Given the description of an element on the screen output the (x, y) to click on. 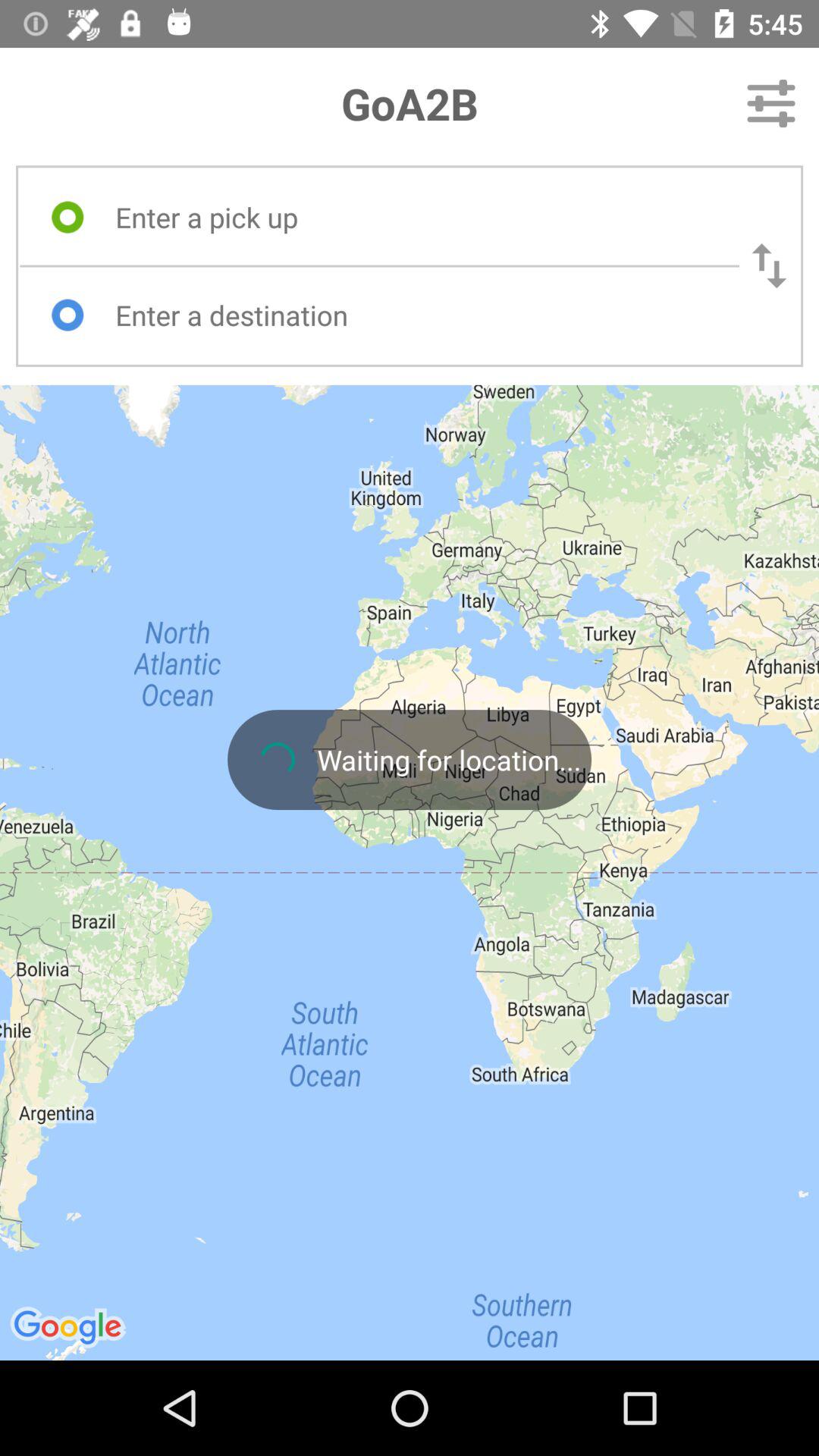
reverse (769, 265)
